Given the description of an element on the screen output the (x, y) to click on. 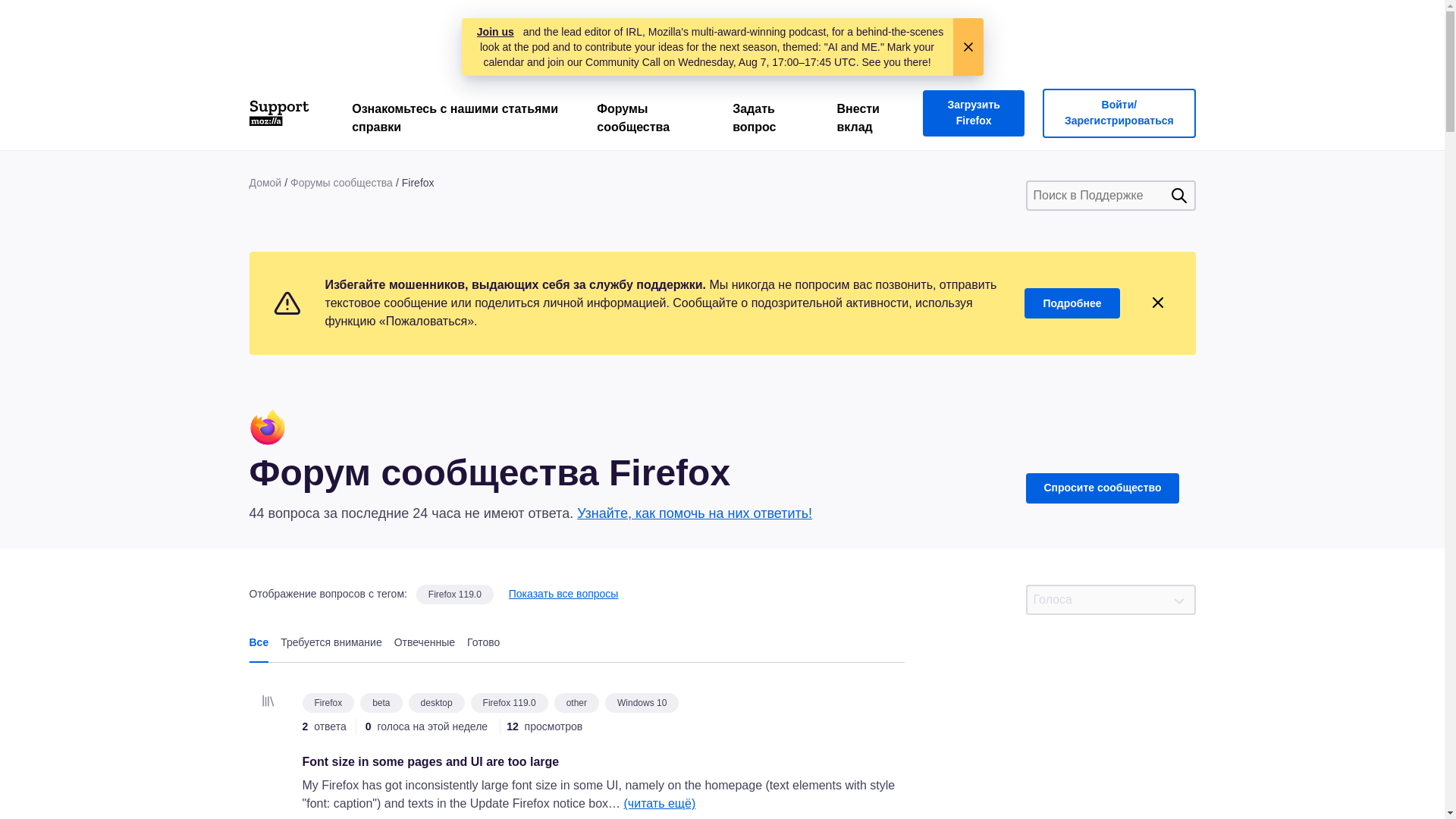
Join us (495, 31)
